Given the description of an element on the screen output the (x, y) to click on. 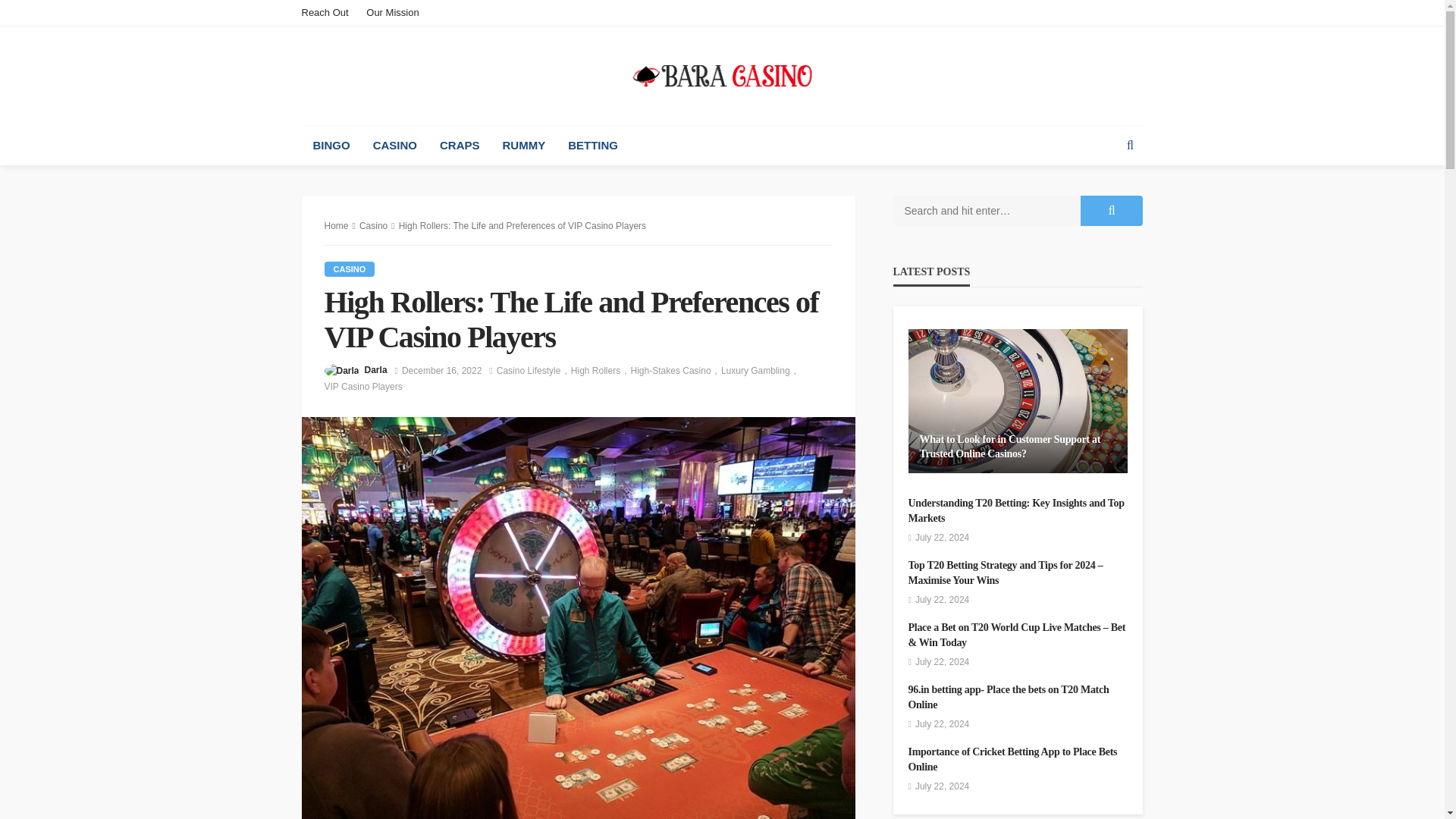
CASINO (394, 145)
BETTING (592, 145)
RUMMY (524, 145)
CRAPS (460, 145)
Reach Out (328, 12)
Our Mission (392, 12)
Home (336, 225)
BINGO (331, 145)
